Given the description of an element on the screen output the (x, y) to click on. 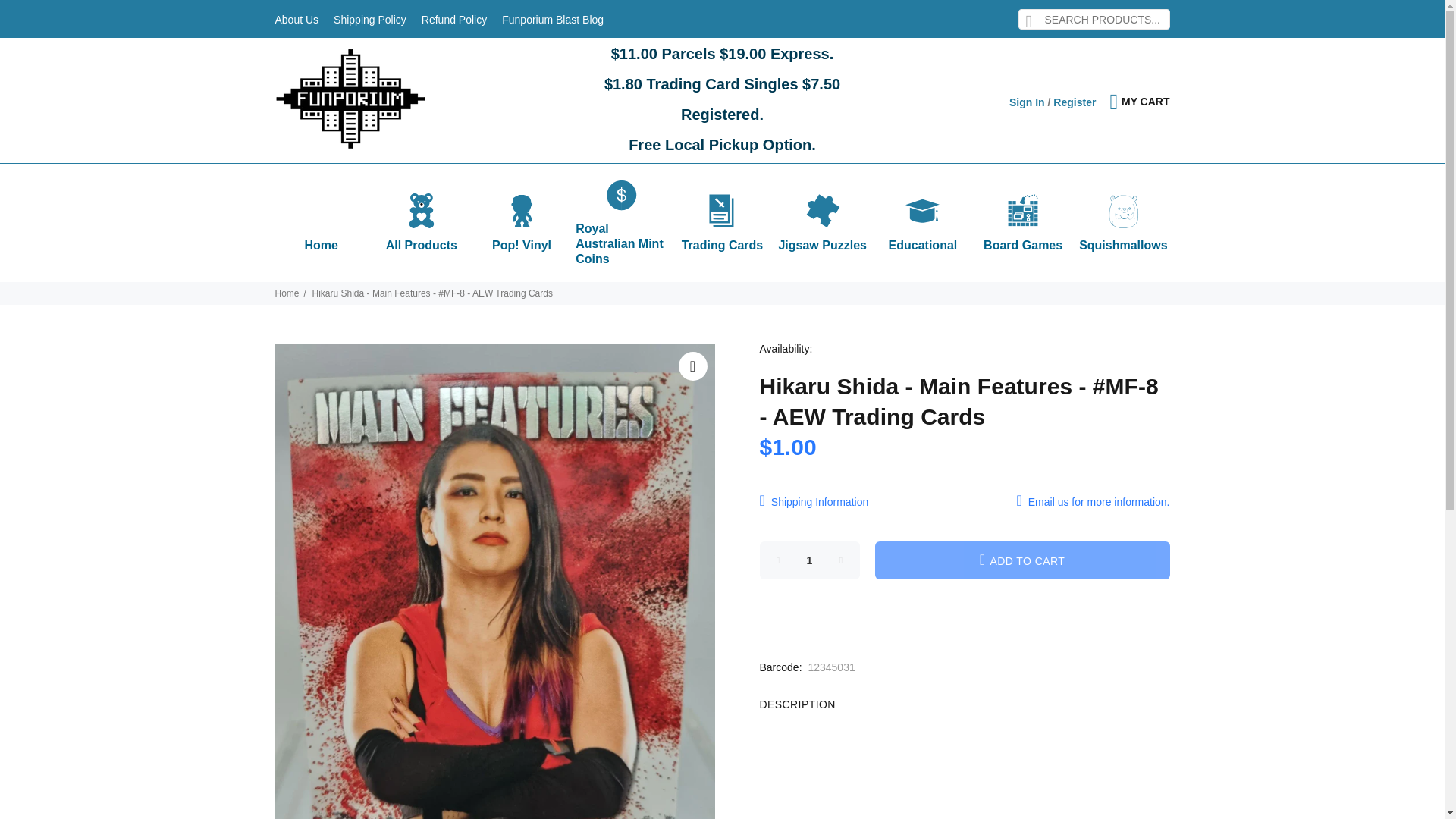
1 (810, 560)
